Given the description of an element on the screen output the (x, y) to click on. 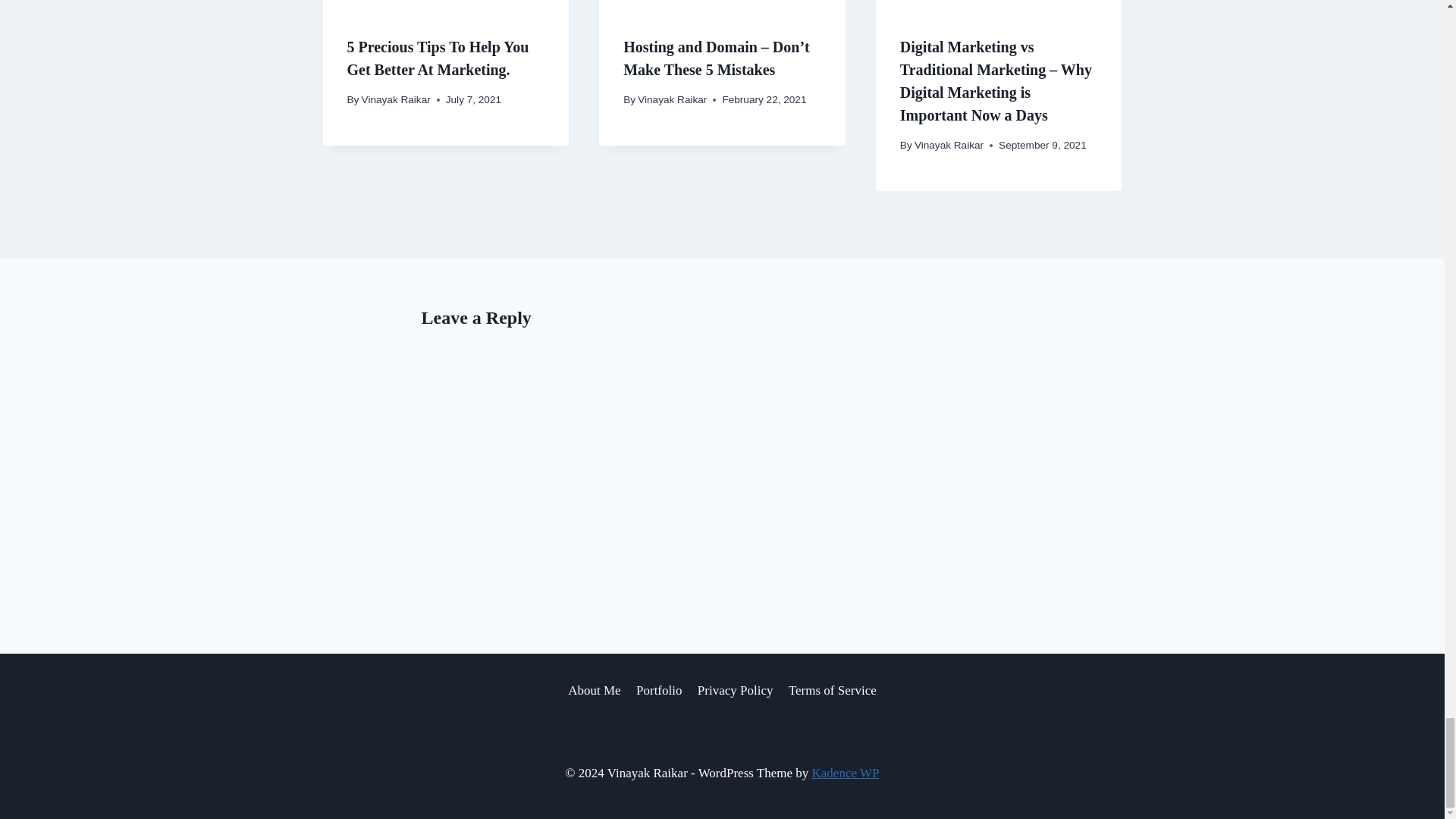
5 Precious Tips To Help You Get Better At Marketing. (438, 57)
Privacy Policy (735, 690)
Terms of Service (831, 690)
Vinayak Raikar (949, 144)
About Me (594, 690)
Portfolio (659, 690)
Kadence WP (845, 772)
Vinayak Raikar (395, 99)
Vinayak Raikar (671, 99)
